Given the description of an element on the screen output the (x, y) to click on. 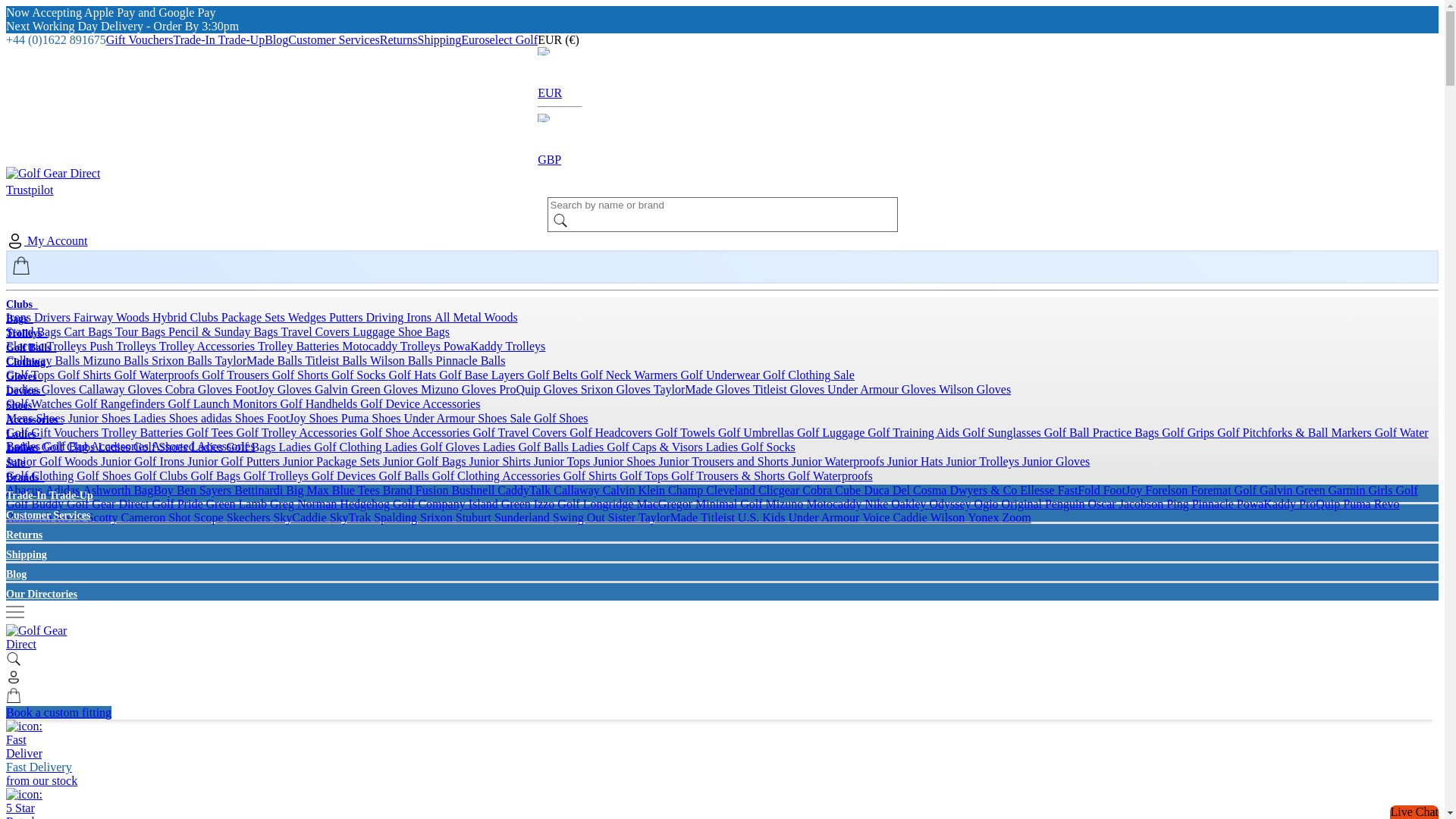
Prices displayed in EUR (559, 39)
Tour Bags (141, 331)
Trolleys   (26, 333)
Trustpilot (29, 189)
Shoe Bags (423, 331)
Luggage (374, 331)
Package Sets (254, 317)
Trolley Batteries (299, 345)
Trolley Accessories (207, 345)
Irons (19, 317)
Drivers (53, 317)
Wedges (308, 317)
Switch to EUR currency (559, 85)
Motocaddy Trolleys (392, 345)
PowaKaddy Trolleys (495, 345)
